Given the description of an element on the screen output the (x, y) to click on. 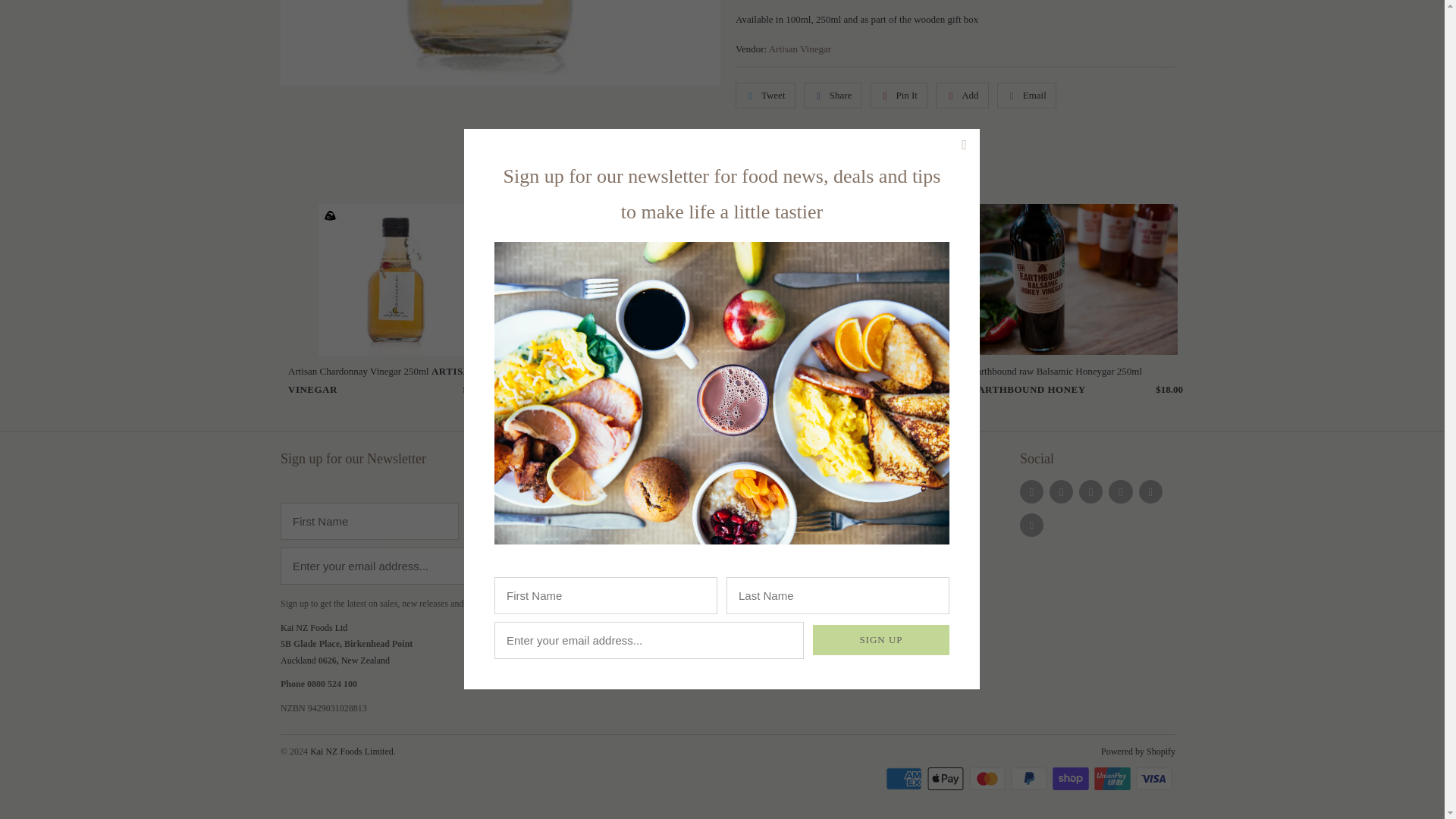
Artisan Vinegar (799, 48)
Share this on Pinterest (898, 95)
Share this on Facebook (832, 95)
Share this on Twitter (764, 95)
Email this to a friend (1027, 95)
Sign Up (880, 155)
